Given the description of an element on the screen output the (x, y) to click on. 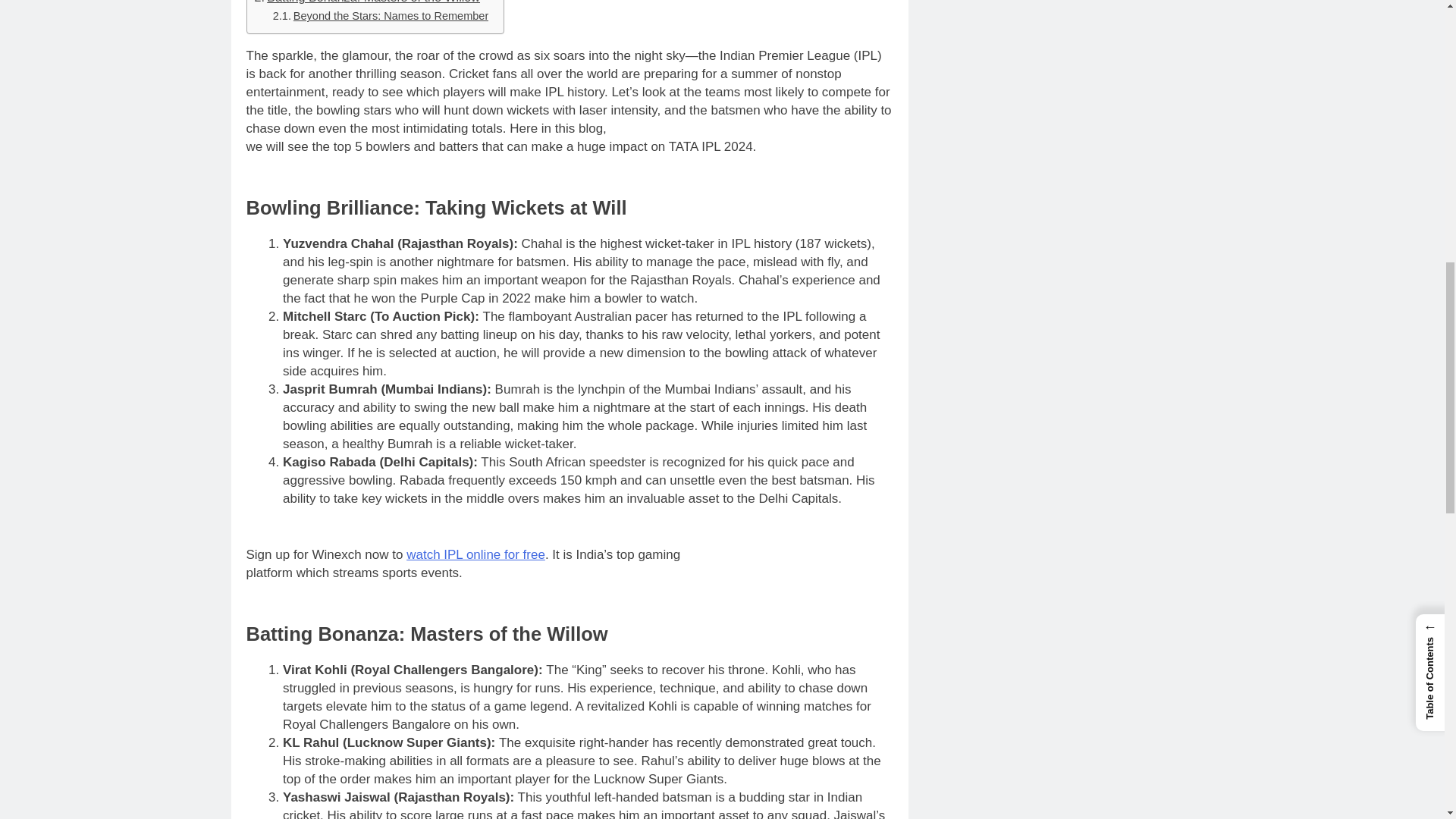
Beyond the Stars: Names to Remember (381, 16)
 Batting Bonanza: Masters of the Willow (367, 3)
